Given the description of an element on the screen output the (x, y) to click on. 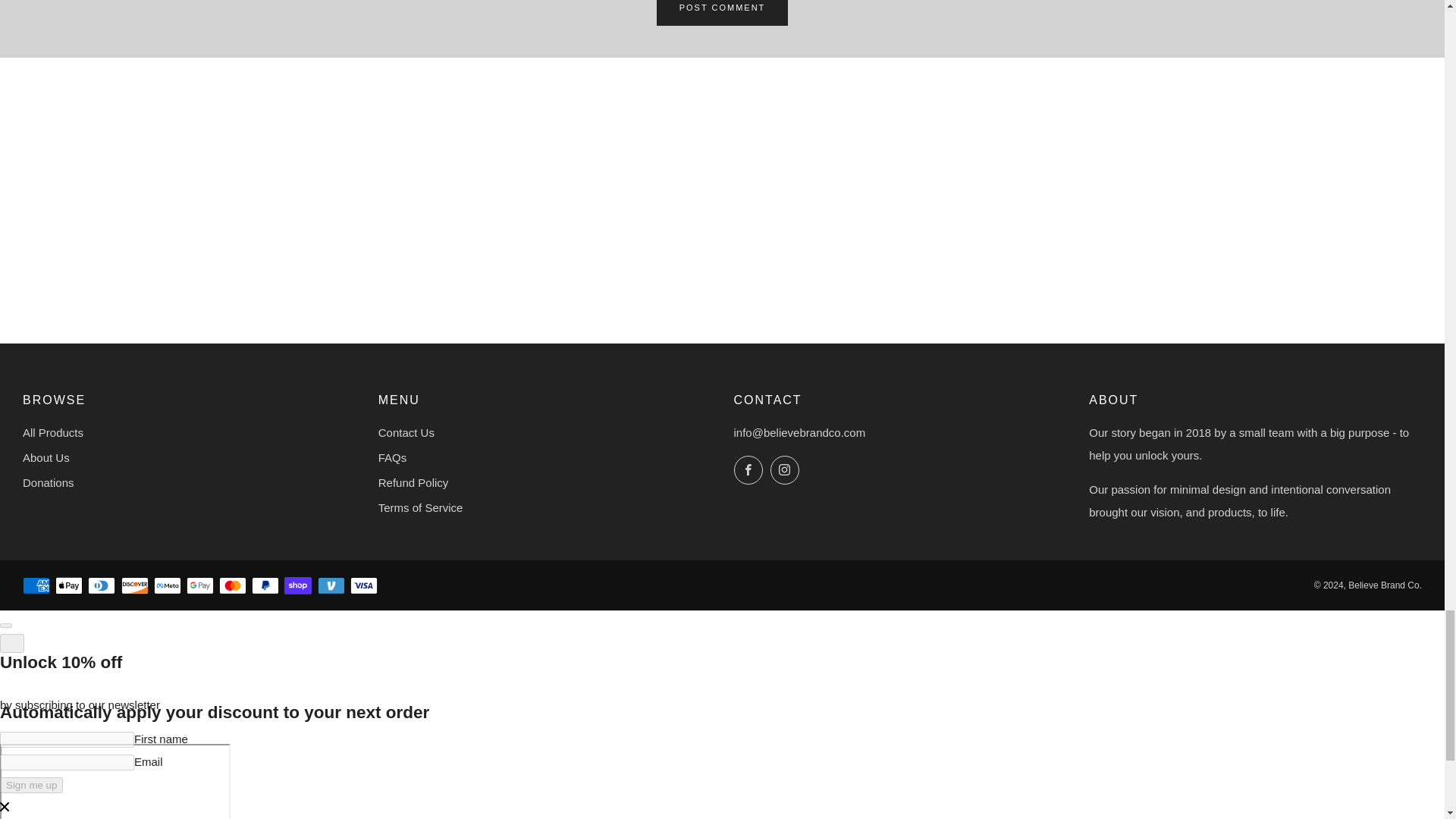
Post comment (722, 12)
Post comment (722, 12)
